Given the description of an element on the screen output the (x, y) to click on. 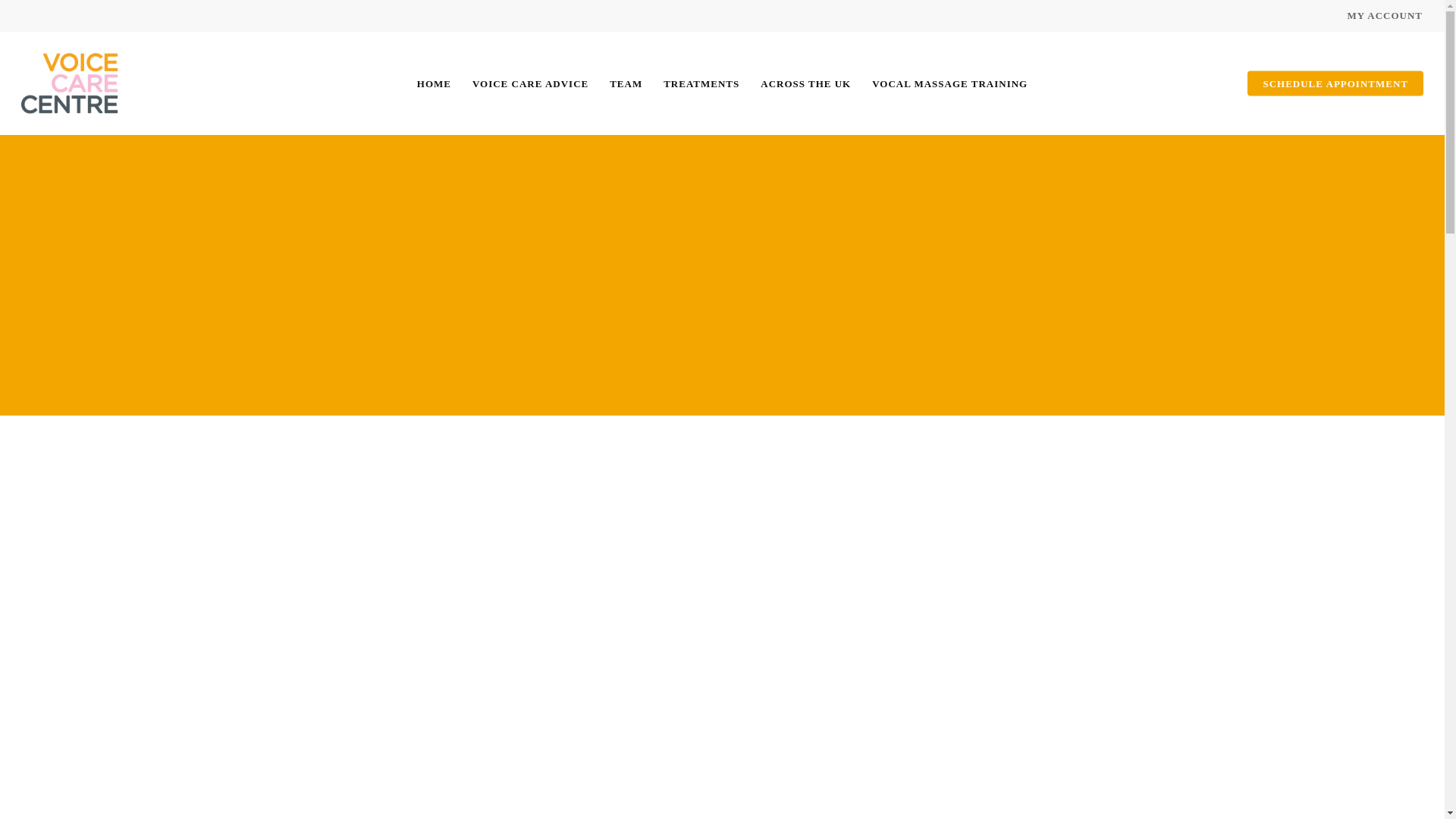
TREATMENTS (701, 83)
VOCAL MASSAGE TRAINING (949, 83)
SCHEDULE APPOINTMENT (1335, 83)
TEAM (626, 83)
MY ACCOUNT (1385, 15)
HOME (433, 83)
ACROSS THE UK (805, 83)
VOICE CARE ADVICE (529, 83)
